Given the description of an element on the screen output the (x, y) to click on. 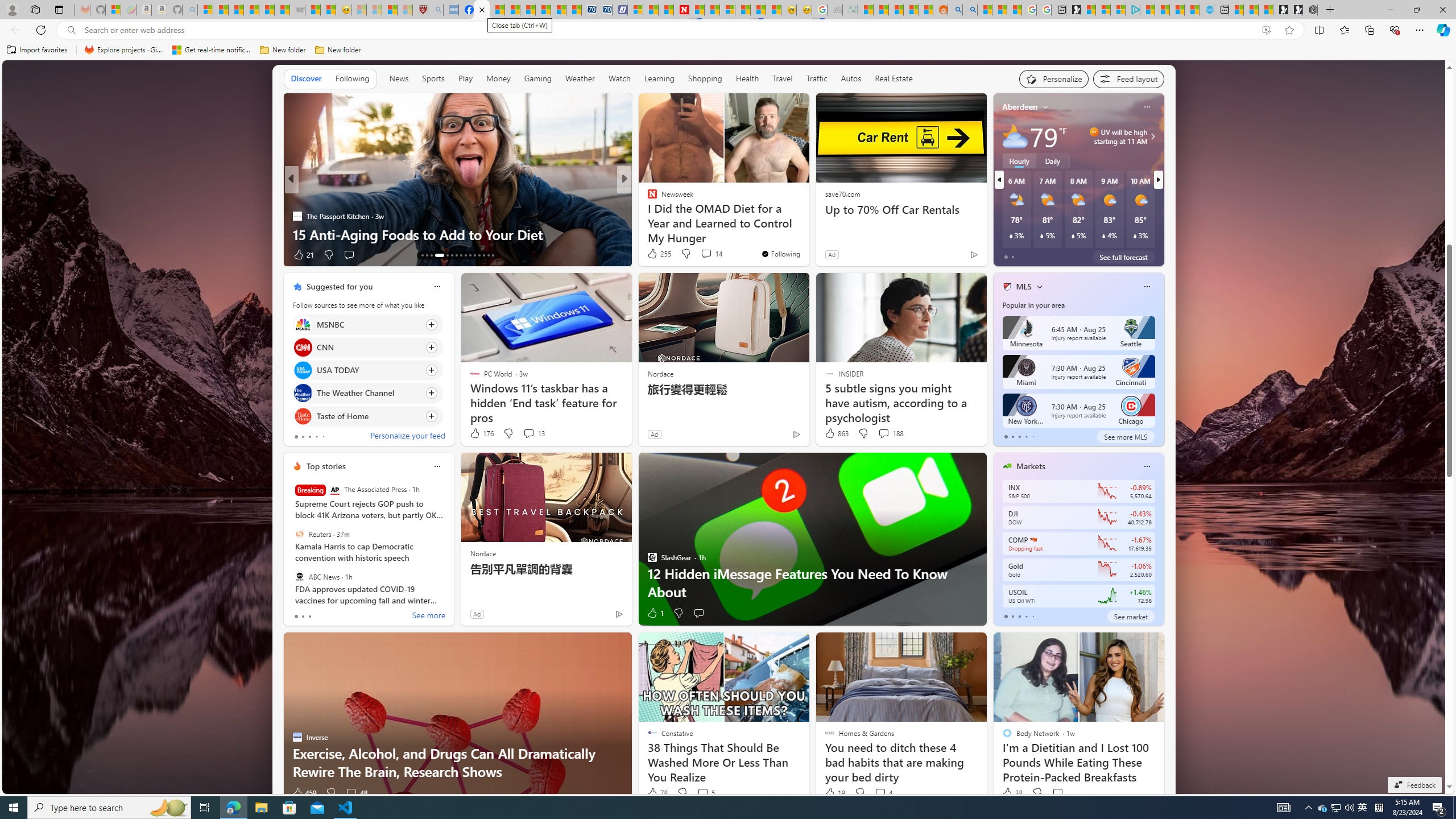
View comments 48 Comment (355, 792)
Personalize your feed" (1054, 78)
Learning (658, 78)
Click to follow source The Weather Channel (367, 392)
AutomationID: tab-72 (456, 255)
View comments 188 Comment (883, 432)
